Given the description of an element on the screen output the (x, y) to click on. 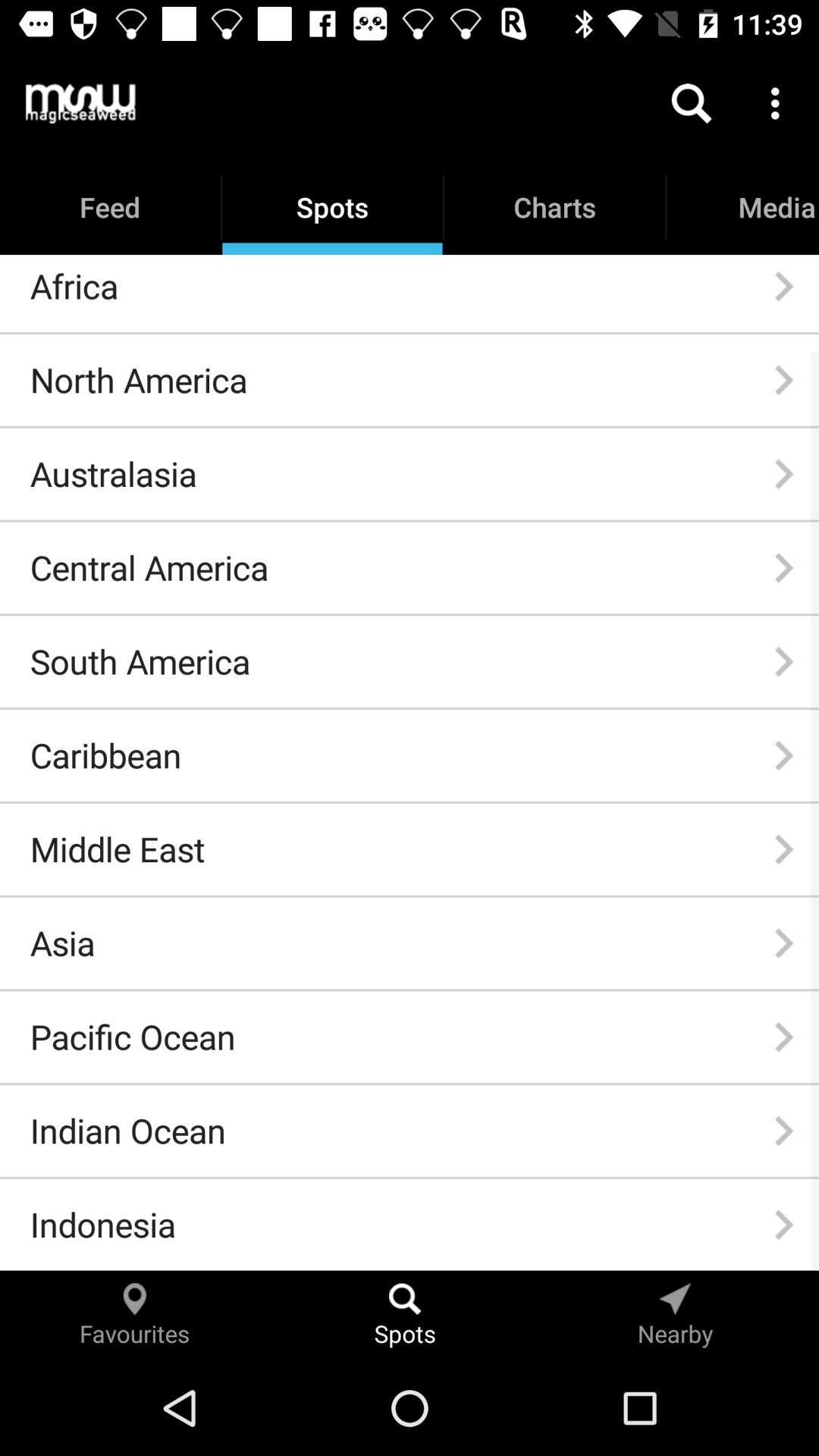
press the icon below feed icon (74, 285)
